Given the description of an element on the screen output the (x, y) to click on. 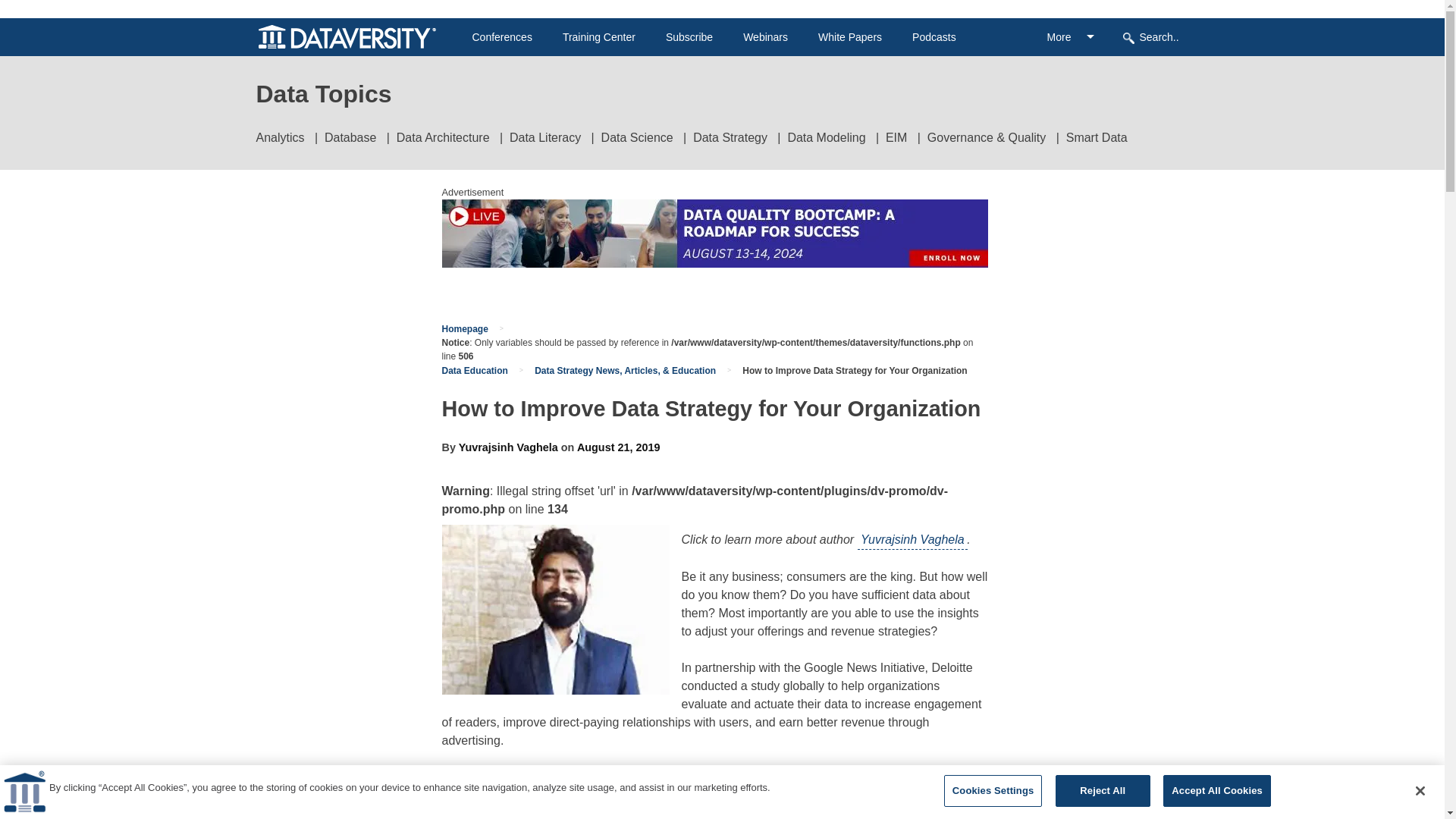
Webinars (764, 37)
Data Literacy (544, 137)
Homepage (464, 328)
EIM (896, 137)
Analytics (280, 137)
August 21, 2019 (618, 447)
Database (350, 137)
Subscribe (689, 37)
Conferences (501, 37)
Data Architecture (442, 137)
Data Strategy (730, 137)
DATAVERSITY Education LLC (24, 792)
White Papers (850, 37)
Training Center (598, 37)
How to Improve Data Strategy for Your Organization (854, 370)
